Given the description of an element on the screen output the (x, y) to click on. 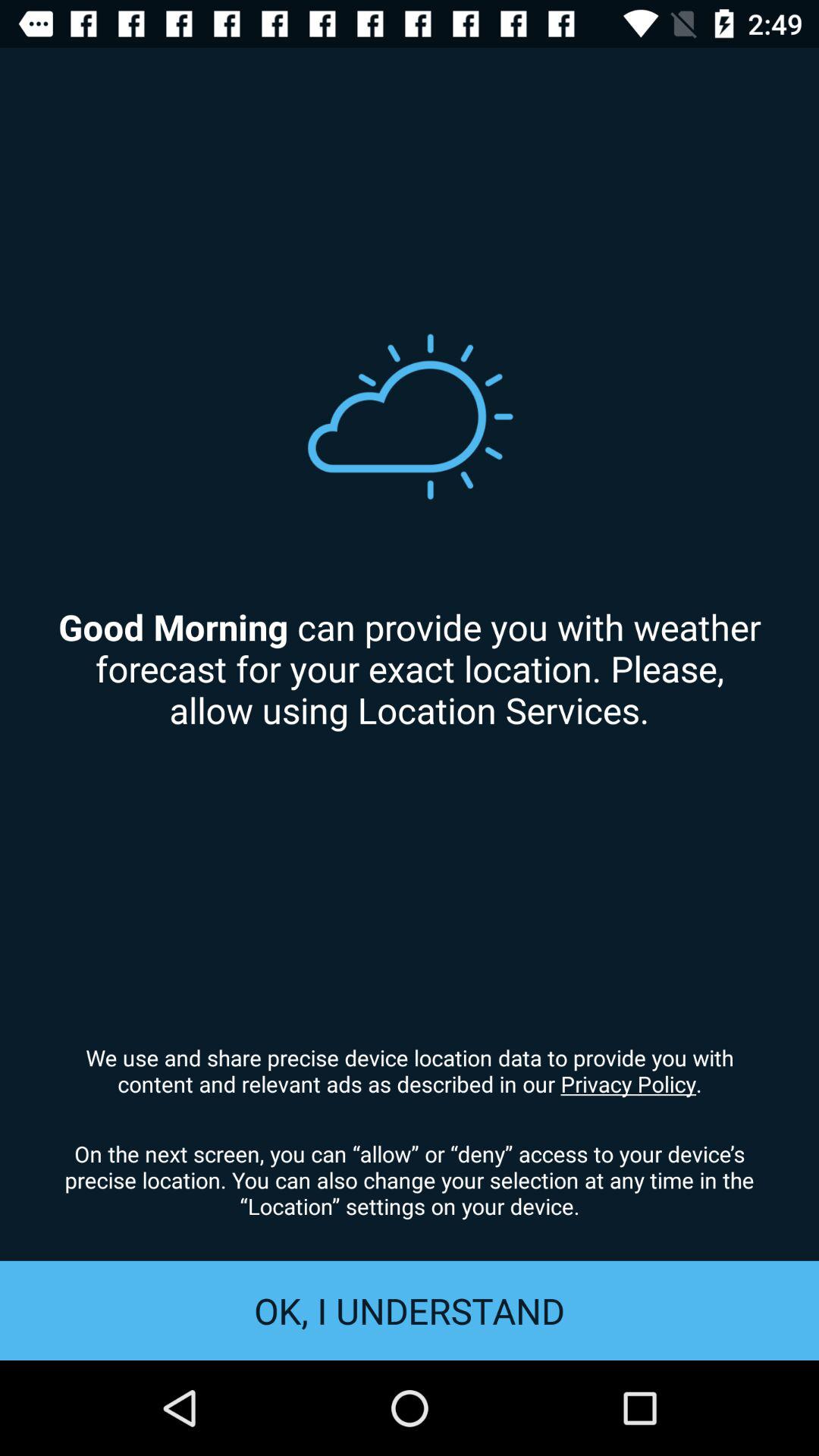
launch we use and icon (409, 1070)
